Given the description of an element on the screen output the (x, y) to click on. 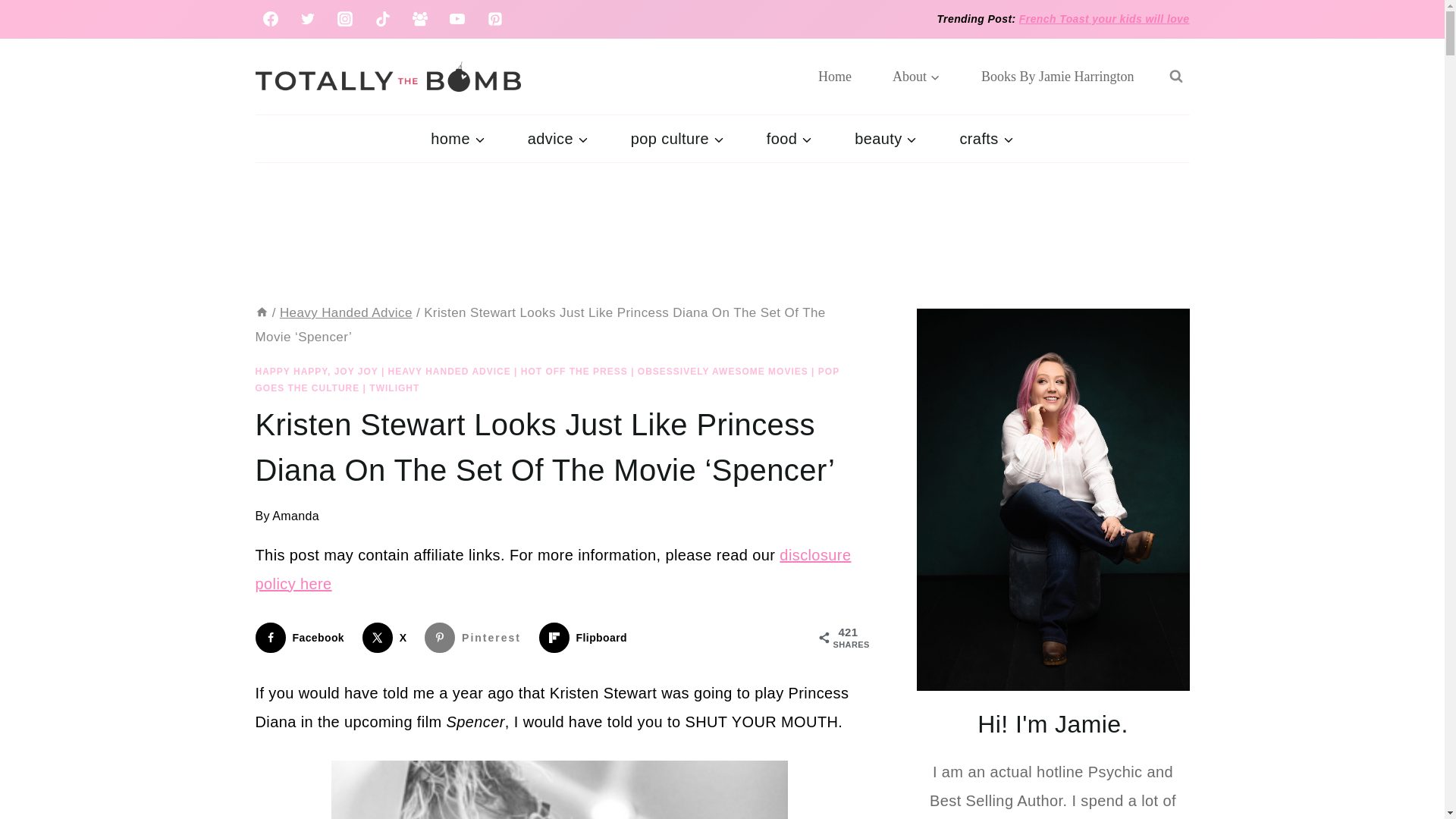
Share on X (387, 637)
Home (260, 312)
Share on Flipboard (585, 637)
About (916, 76)
Share on Facebook (302, 637)
Home (834, 76)
Books By Jamie Harrington (1057, 76)
Save to Pinterest (476, 637)
advice (558, 138)
pop culture (677, 138)
home (457, 138)
French Toast your kids will love (1104, 19)
